Given the description of an element on the screen output the (x, y) to click on. 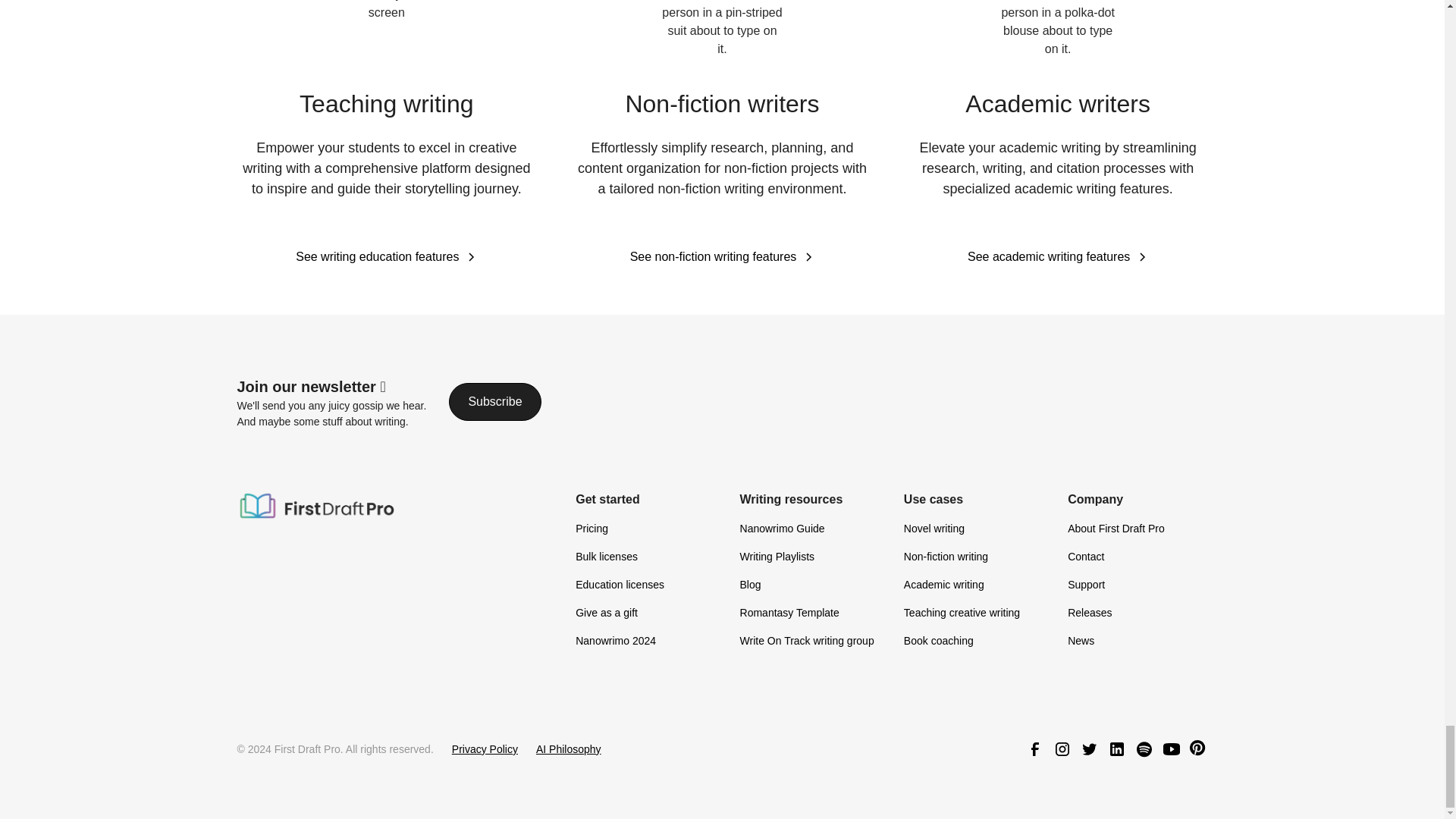
See non-fiction writing features (722, 257)
See academic writing features (1058, 257)
Subscribe (494, 401)
See writing education features (386, 257)
